Given the description of an element on the screen output the (x, y) to click on. 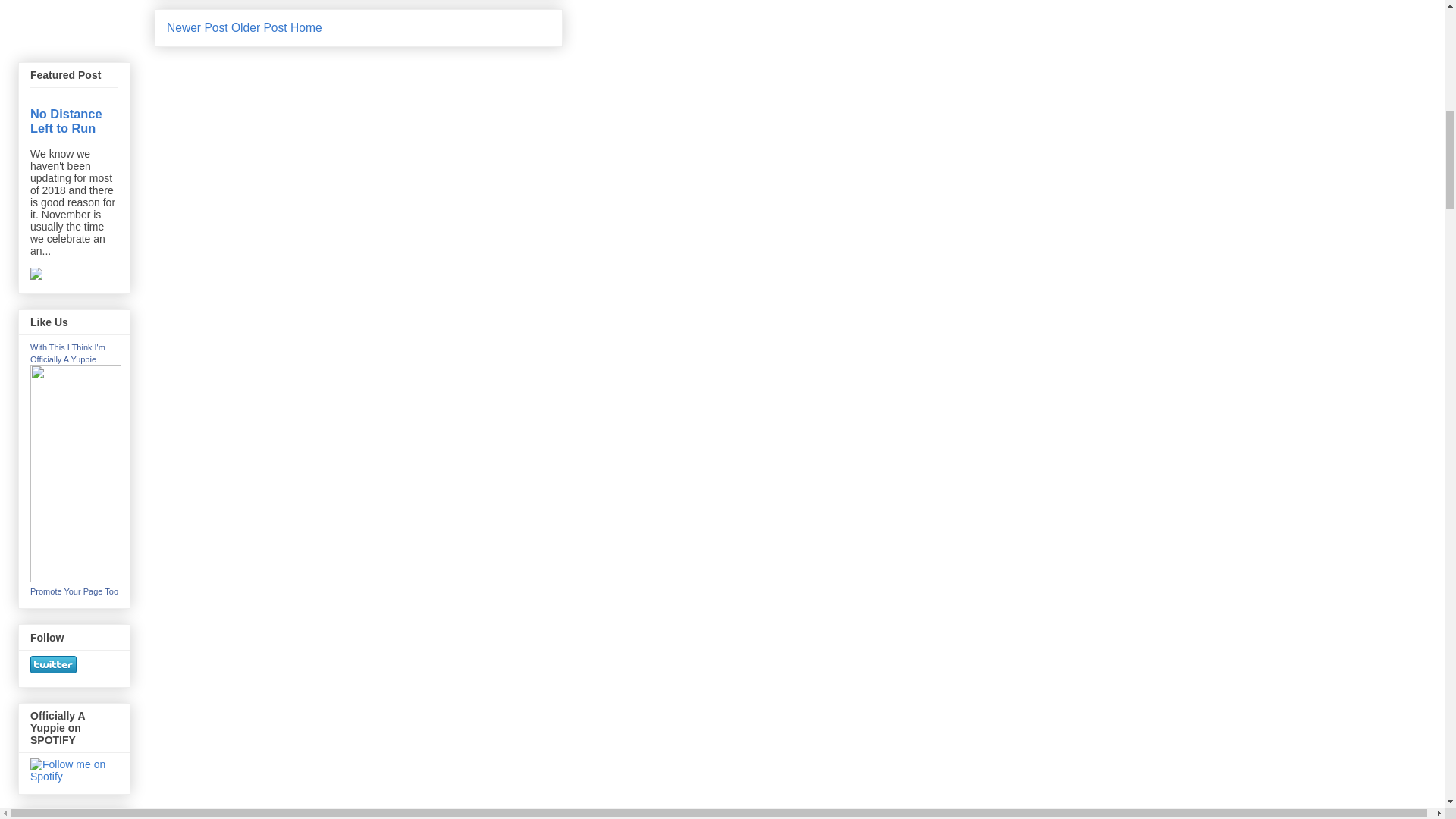
Promote Your Page Too (73, 591)
Newer Post (197, 27)
Older Post (258, 27)
With This I Think I'm Officially A Yuppie (67, 353)
Older Post (258, 27)
Newer Post (197, 27)
Follow me on Spotify (73, 770)
Make your own badge! (73, 591)
No Distance Left to Run (65, 121)
With This I Think I'm Officially A Yuppie (75, 578)
Home (305, 27)
With This I Think I'm Officially A Yuppie (67, 353)
